Given the description of an element on the screen output the (x, y) to click on. 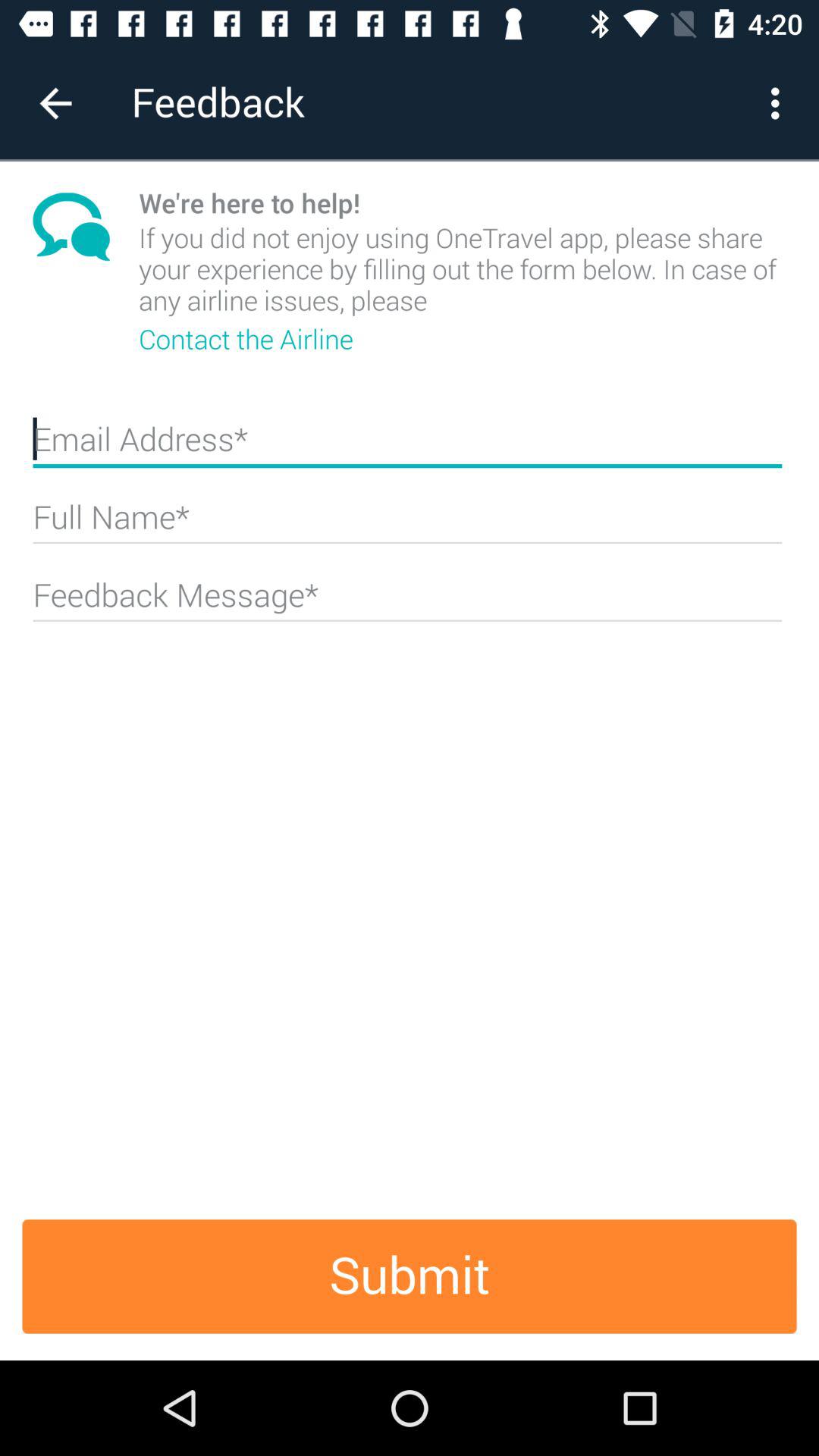
select the item next to feedback item (779, 103)
